Given the description of an element on the screen output the (x, y) to click on. 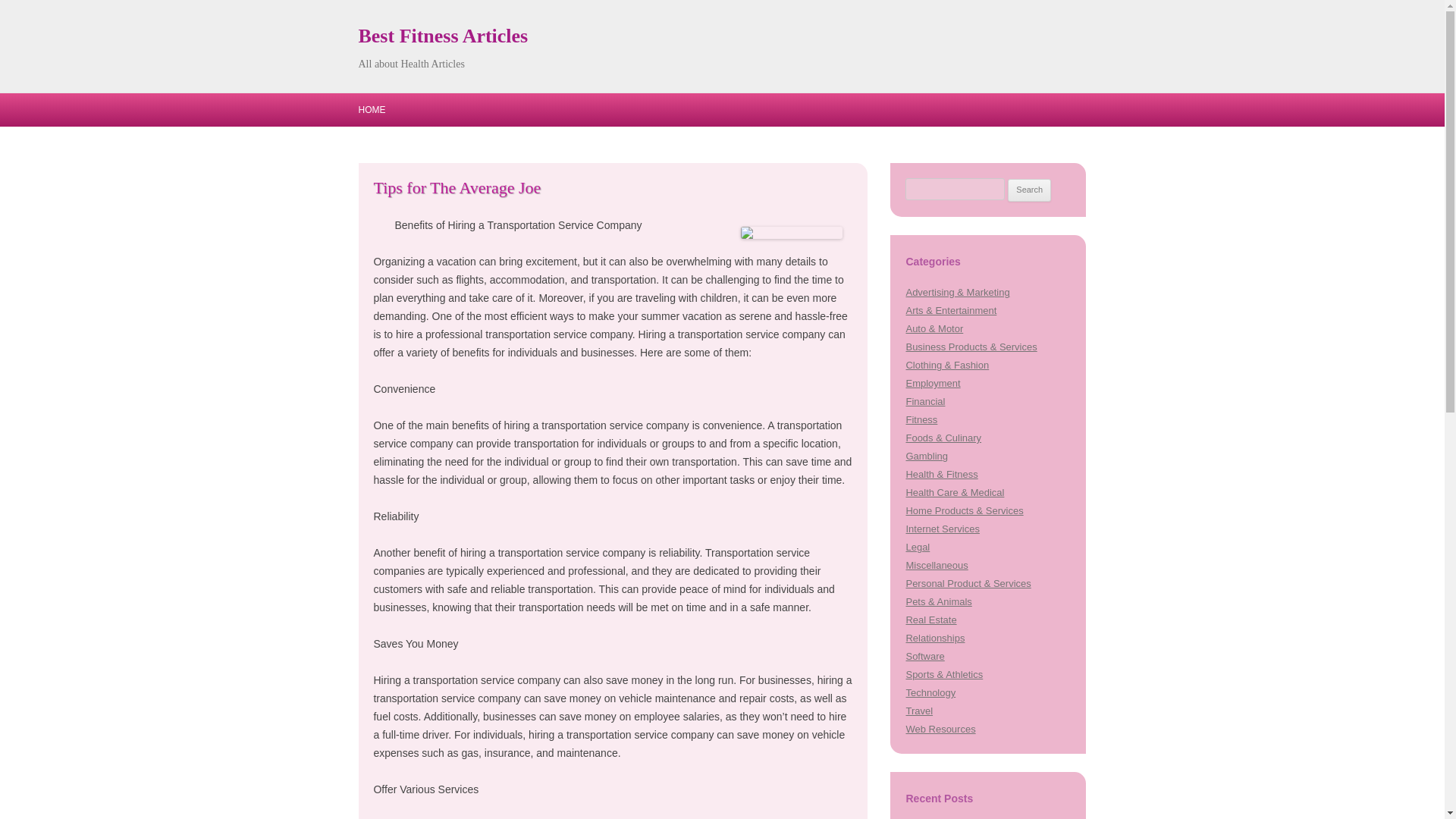
Best Fitness Articles (442, 36)
Search (1029, 190)
Real Estate (930, 619)
Financial (924, 401)
Technology (930, 692)
Gambling (926, 455)
Best Fitness Articles (442, 36)
Travel (919, 710)
Search (1029, 190)
